Given the description of an element on the screen output the (x, y) to click on. 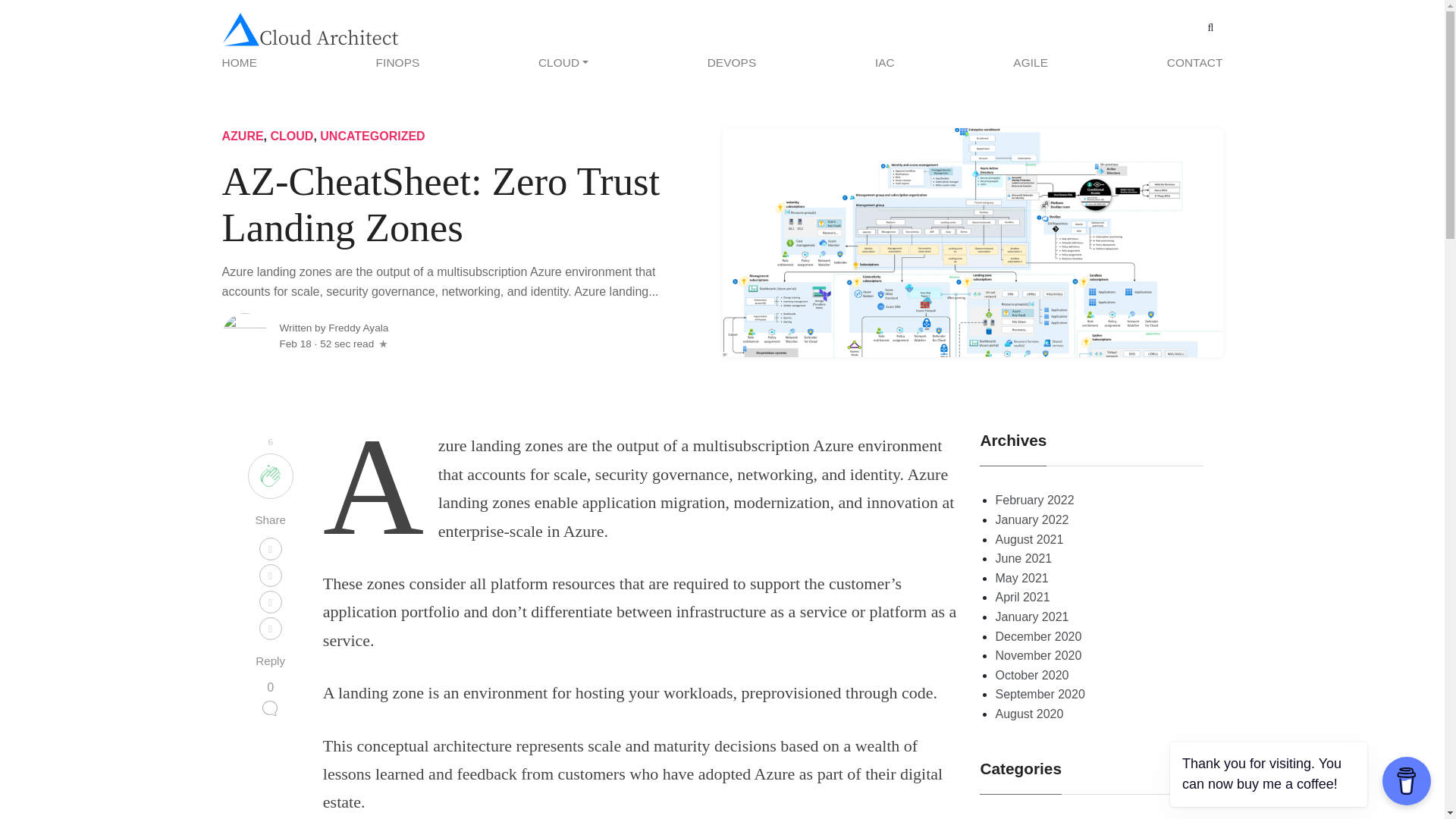
AGILE (1030, 62)
AZURE (242, 135)
DEVOPS (731, 62)
FINOPS (397, 62)
June 2021 (1022, 558)
January 2021 (1031, 616)
HOME (242, 62)
August 2021 (1028, 539)
January 2022 (1031, 519)
December 2020 (1037, 635)
